Given the description of an element on the screen output the (x, y) to click on. 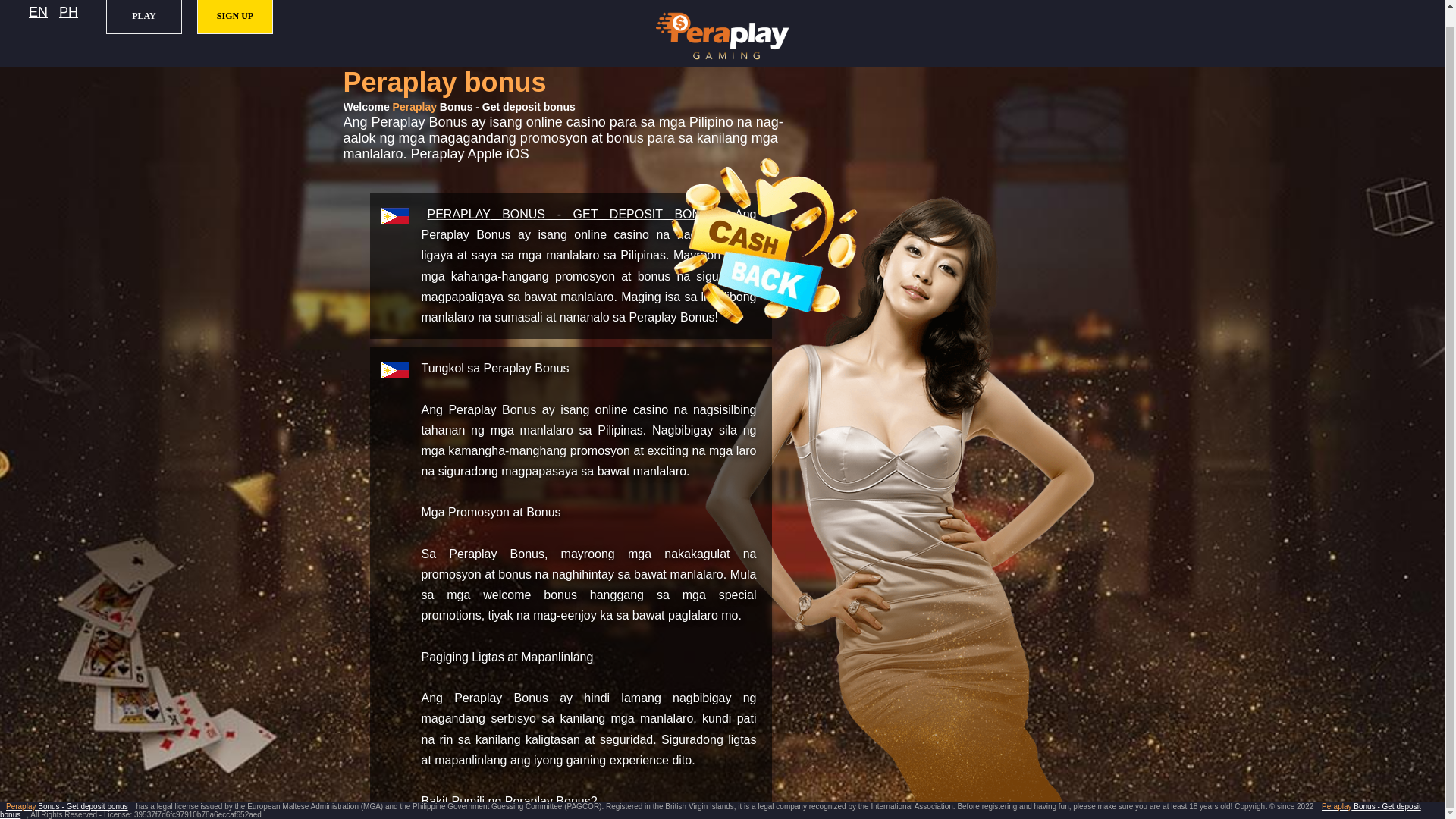
PLAY (144, 17)
Peraplay Bonus - Get deposit bonus Logo (721, 36)
Peraplay Bonus - Get deposit bonus (572, 214)
PH (68, 12)
Filipino (68, 12)
SIGN UP (234, 17)
Peraplay Bonus - Get deposit bonus (66, 806)
EN (38, 12)
PERAPLAY BONUS - GET DEPOSIT BONUS (572, 214)
English (38, 12)
